Given the description of an element on the screen output the (x, y) to click on. 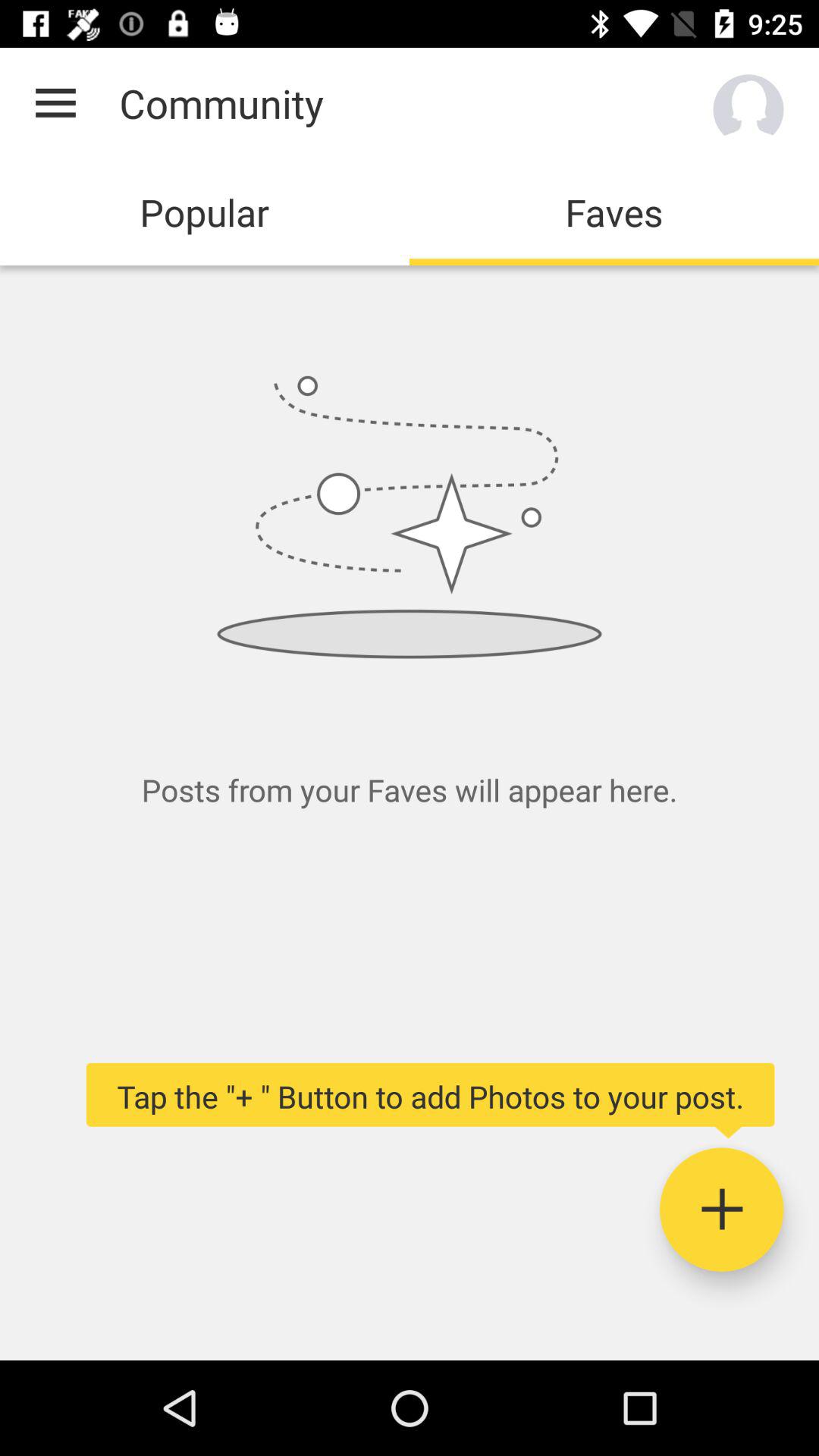
add symbol (721, 1209)
